Given the description of an element on the screen output the (x, y) to click on. 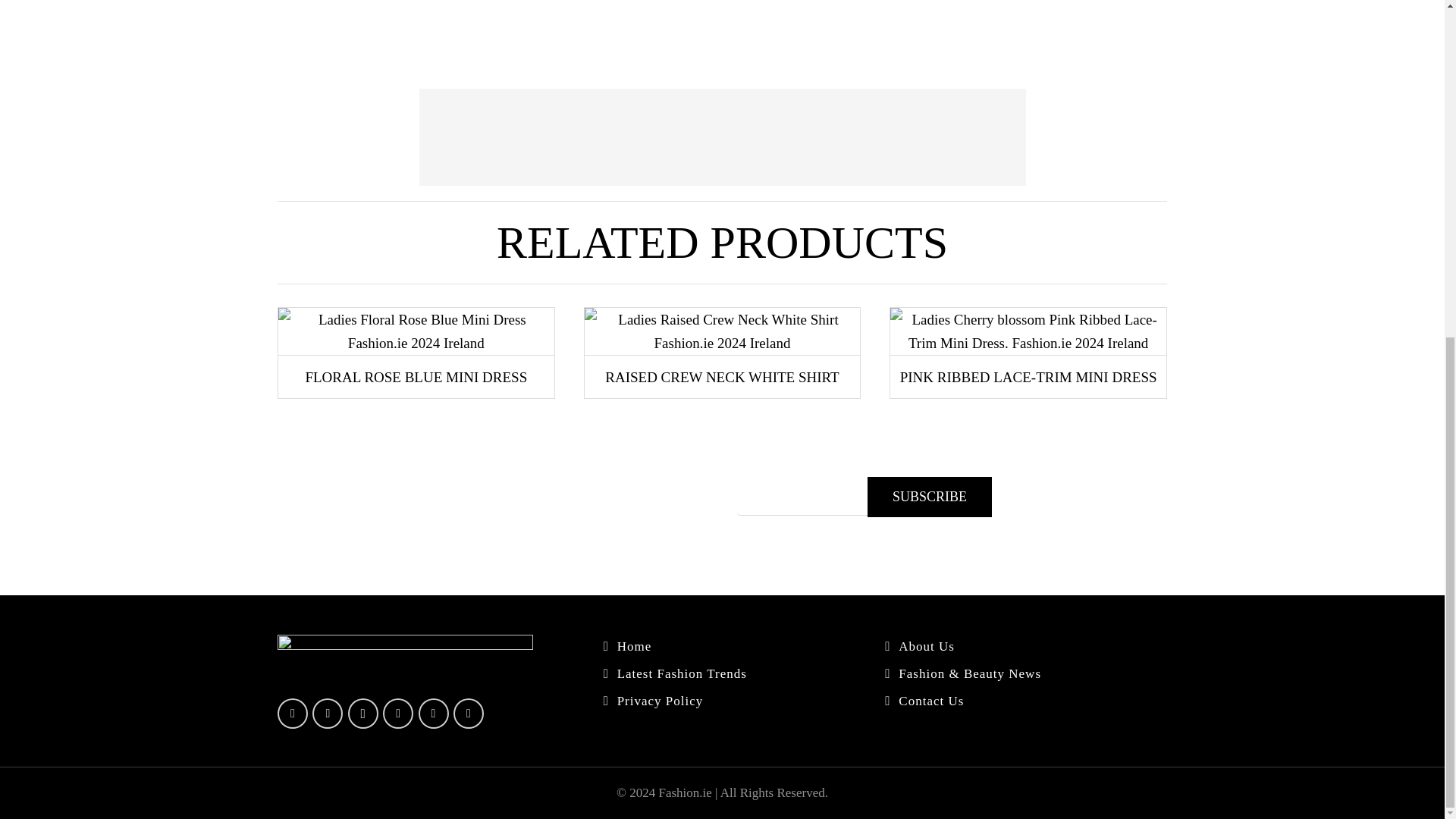
Subscribe (929, 496)
Pinterest (467, 713)
LinkedIn (397, 713)
Facebook (292, 713)
PINK RIBBED LACE-TRIM MINI DRESS (1027, 377)
Instagram (362, 713)
RAISED CREW NECK WHITE SHIRT (722, 377)
YouTube (433, 713)
FLORAL ROSE BLUE MINI DRESS (416, 377)
Twitter (327, 713)
